Given the description of an element on the screen output the (x, y) to click on. 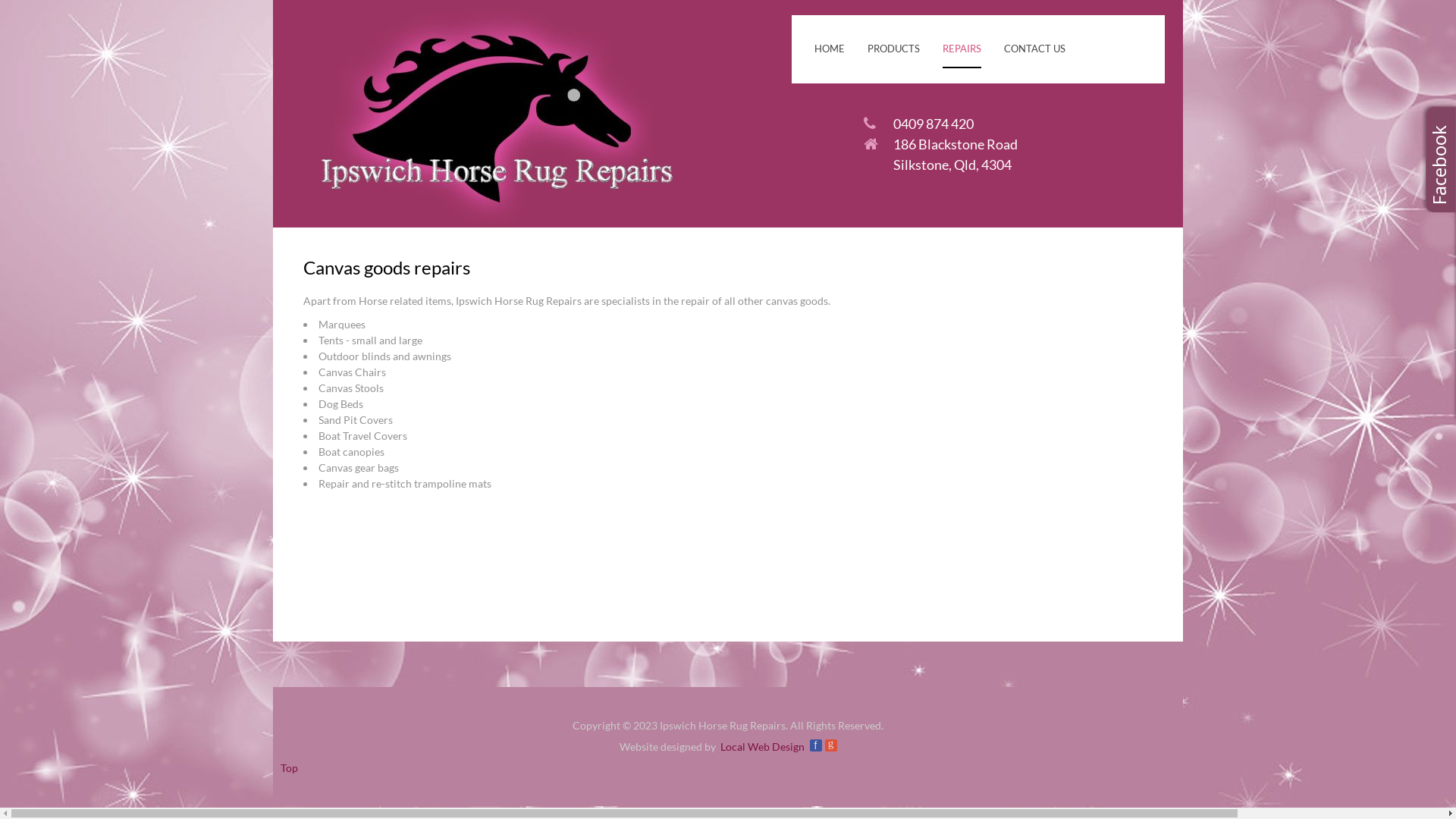
CONTACT US Element type: text (1034, 49)
HOME Element type: text (829, 49)
186 Blackstone Road Element type: text (955, 143)
Silkstone, Qld, 4304 Element type: text (952, 164)
0409 874 420  Element type: text (934, 123)
f Element type: text (815, 745)
Local Web Design Element type: text (762, 746)
PRODUCTS Element type: text (893, 49)
Top Element type: text (289, 767)
REPAIRS Element type: text (961, 49)
g Element type: text (831, 745)
